Given the description of an element on the screen output the (x, y) to click on. 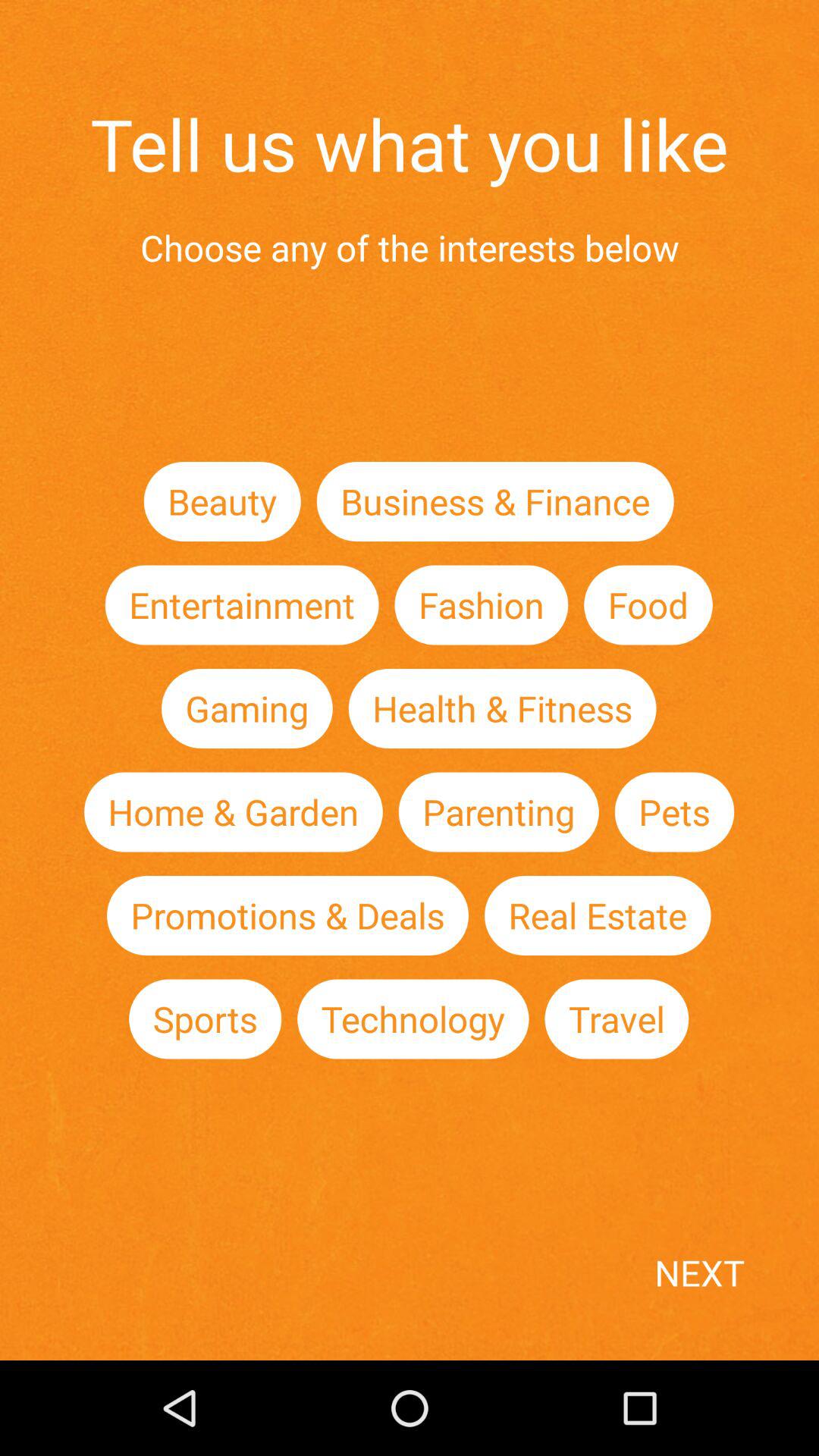
click item next to technology icon (616, 1019)
